Given the description of an element on the screen output the (x, y) to click on. 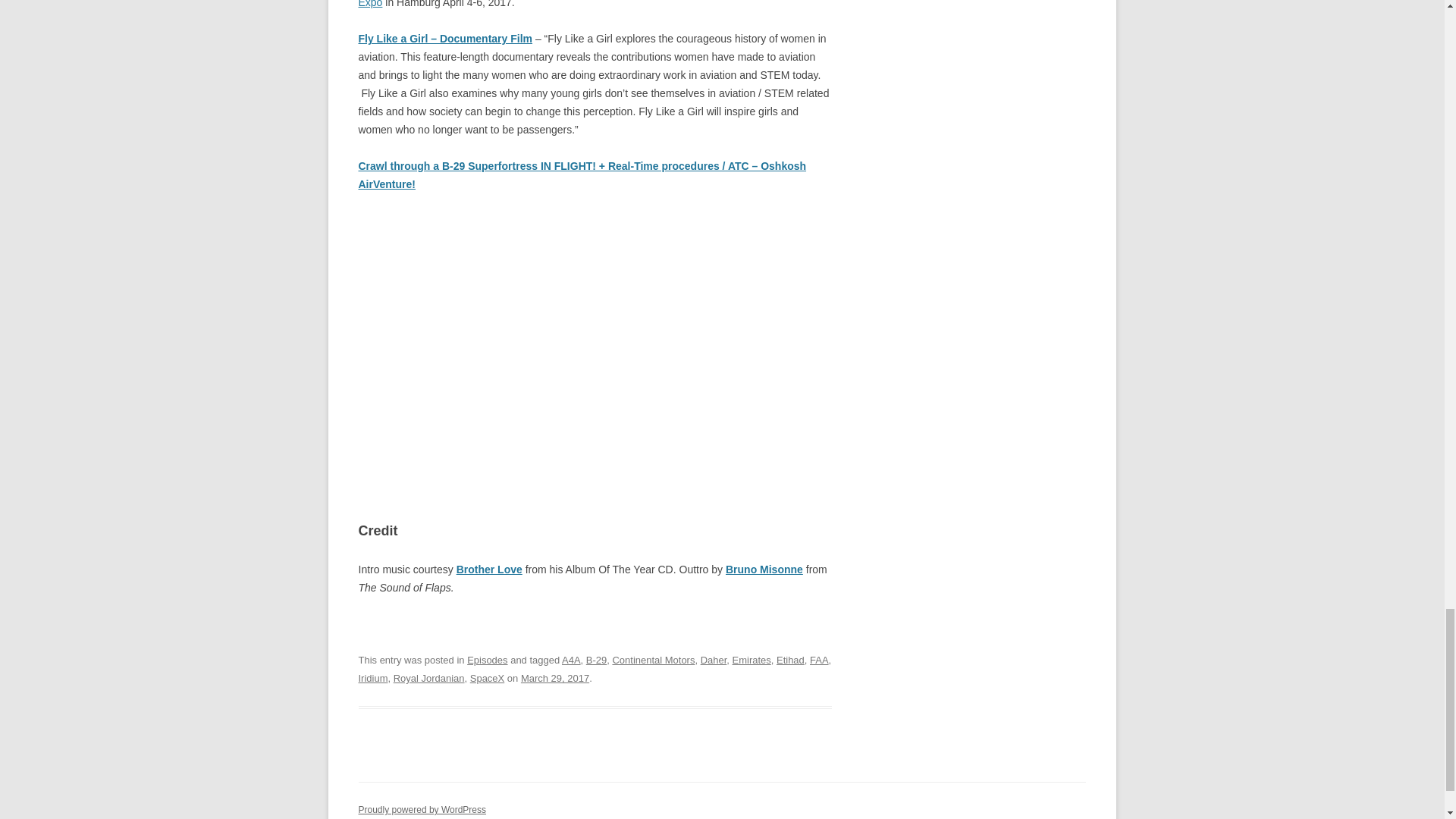
Semantic Personal Publishing Platform (422, 809)
Aircraft Interiors Expo (588, 4)
9:36 am (555, 677)
